Given the description of an element on the screen output the (x, y) to click on. 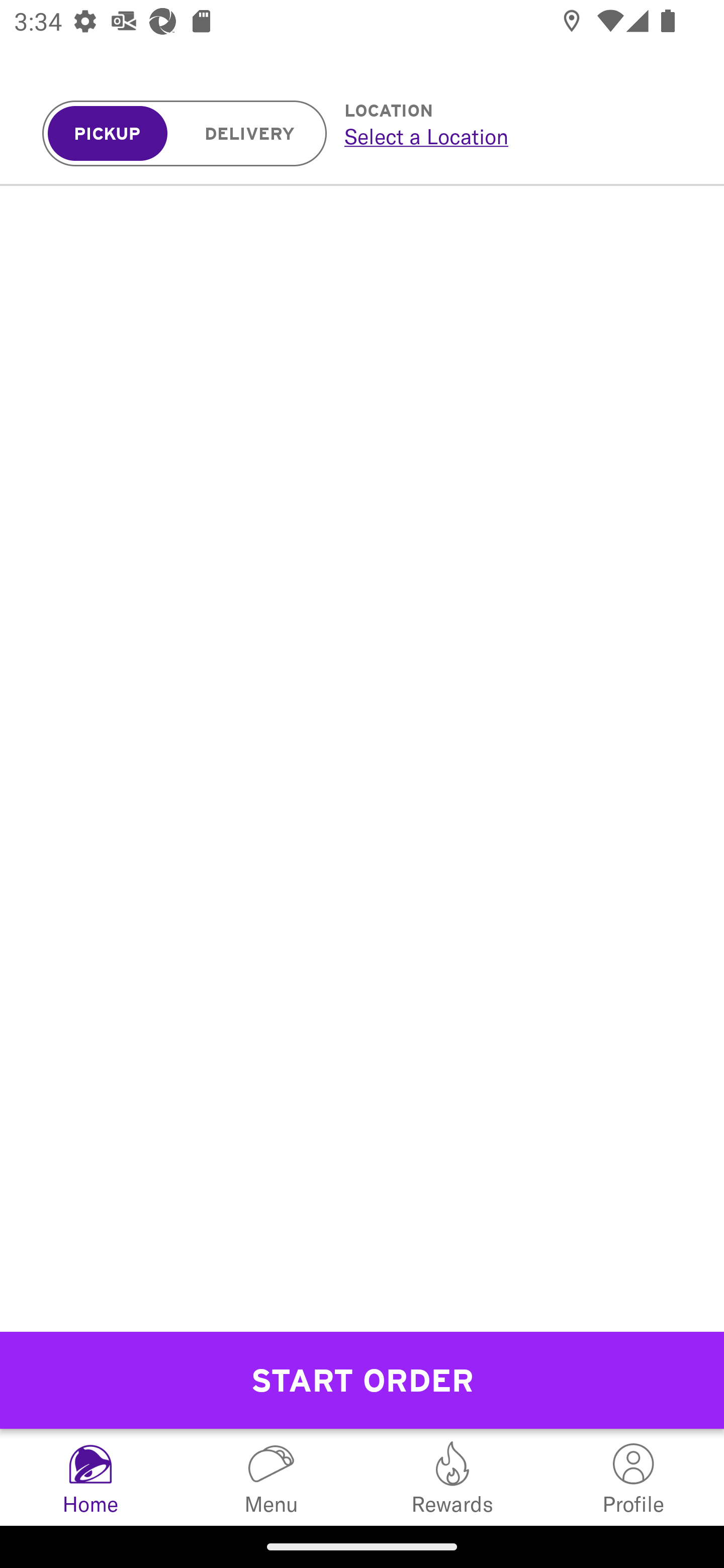
PICKUP (107, 133)
DELIVERY (249, 133)
Select a Location (511, 136)
START ORDER (362, 1379)
Home (90, 1476)
Menu (271, 1476)
Rewards (452, 1476)
My Info Profile (633, 1476)
